Given the description of an element on the screen output the (x, y) to click on. 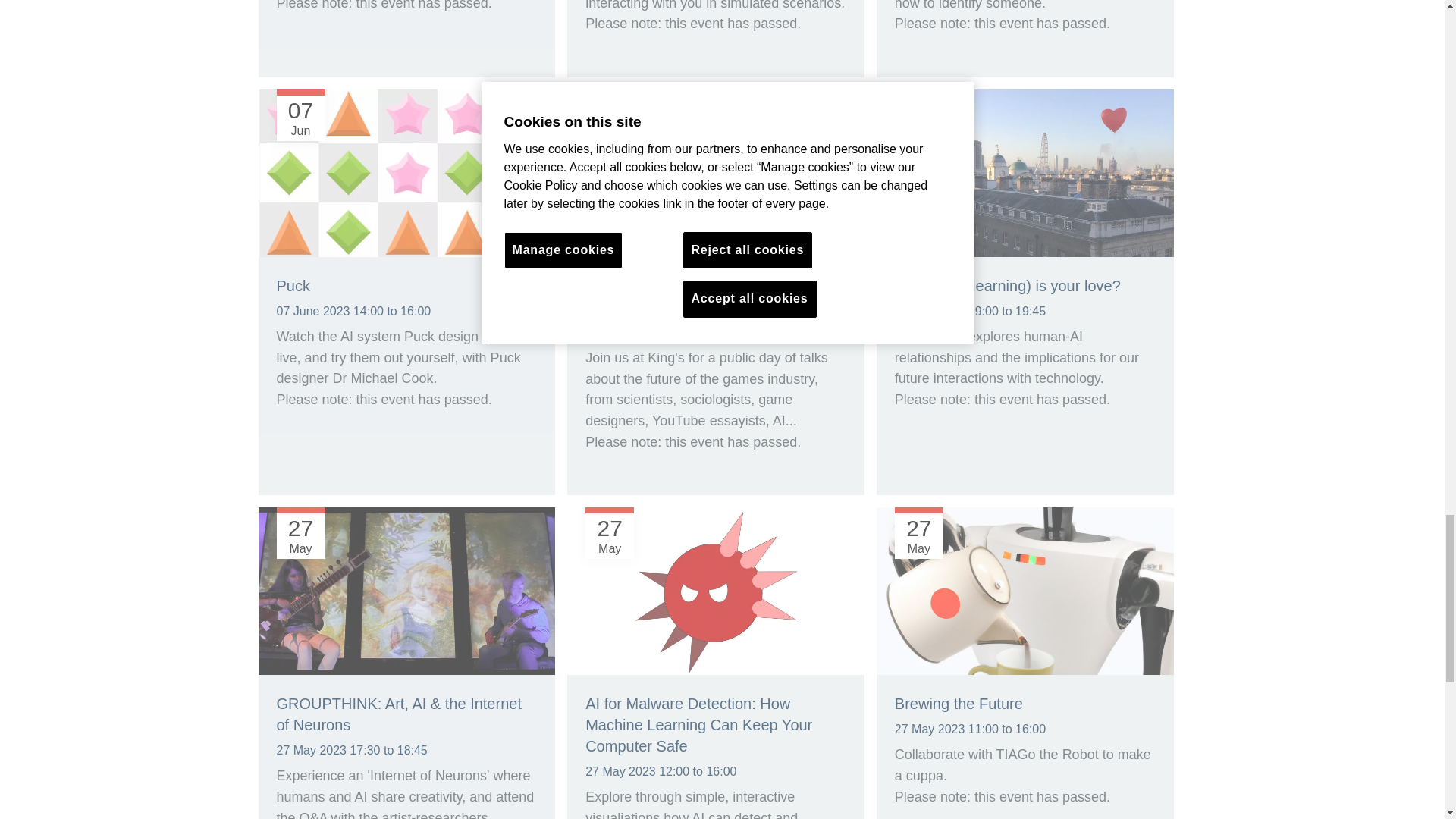
Puck (405, 174)
Puck (292, 285)
